Given the description of an element on the screen output the (x, y) to click on. 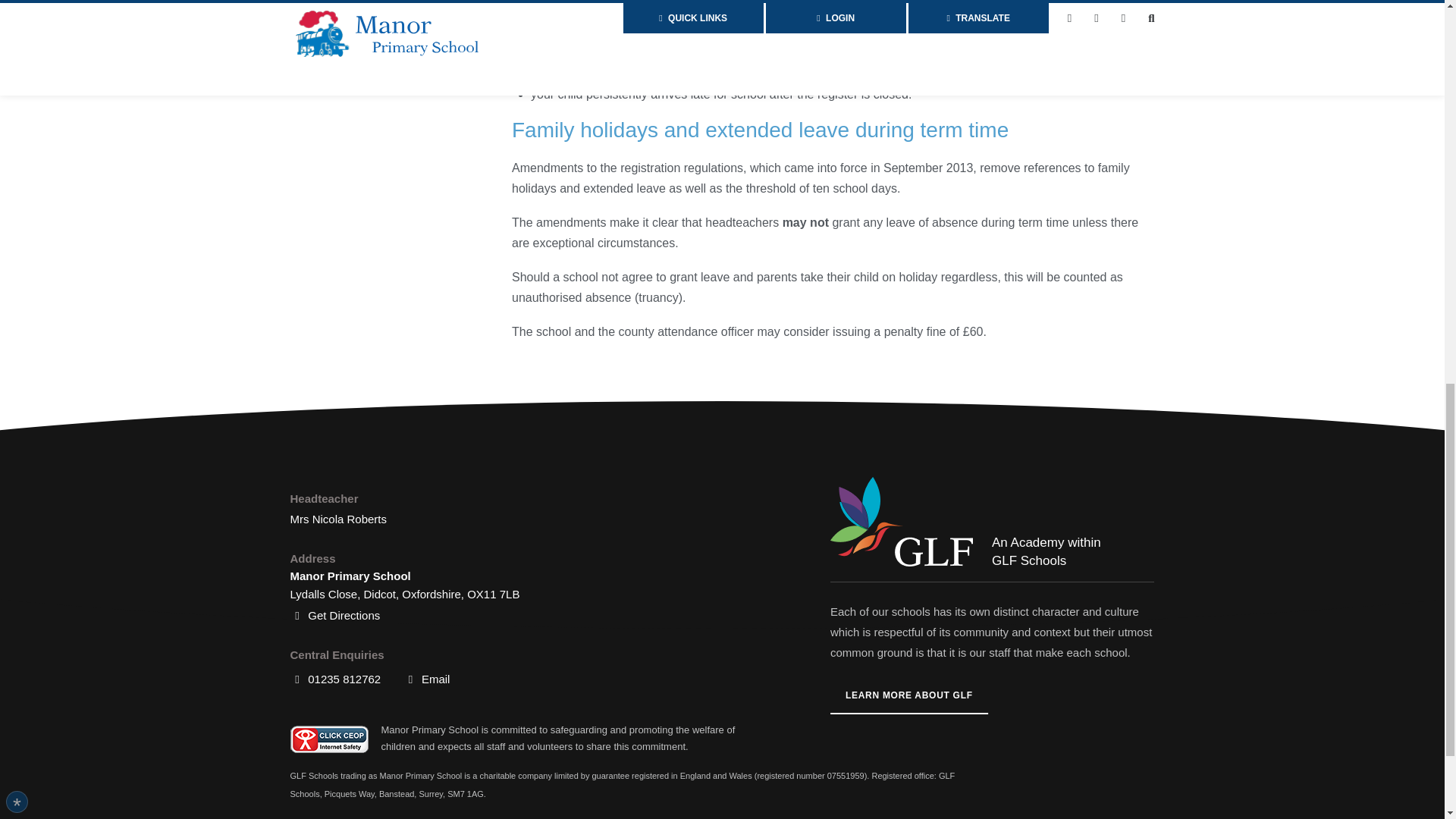
Read more about our cookie policy (162, 590)
Call us on 01235 812762 (334, 679)
